Given the description of an element on the screen output the (x, y) to click on. 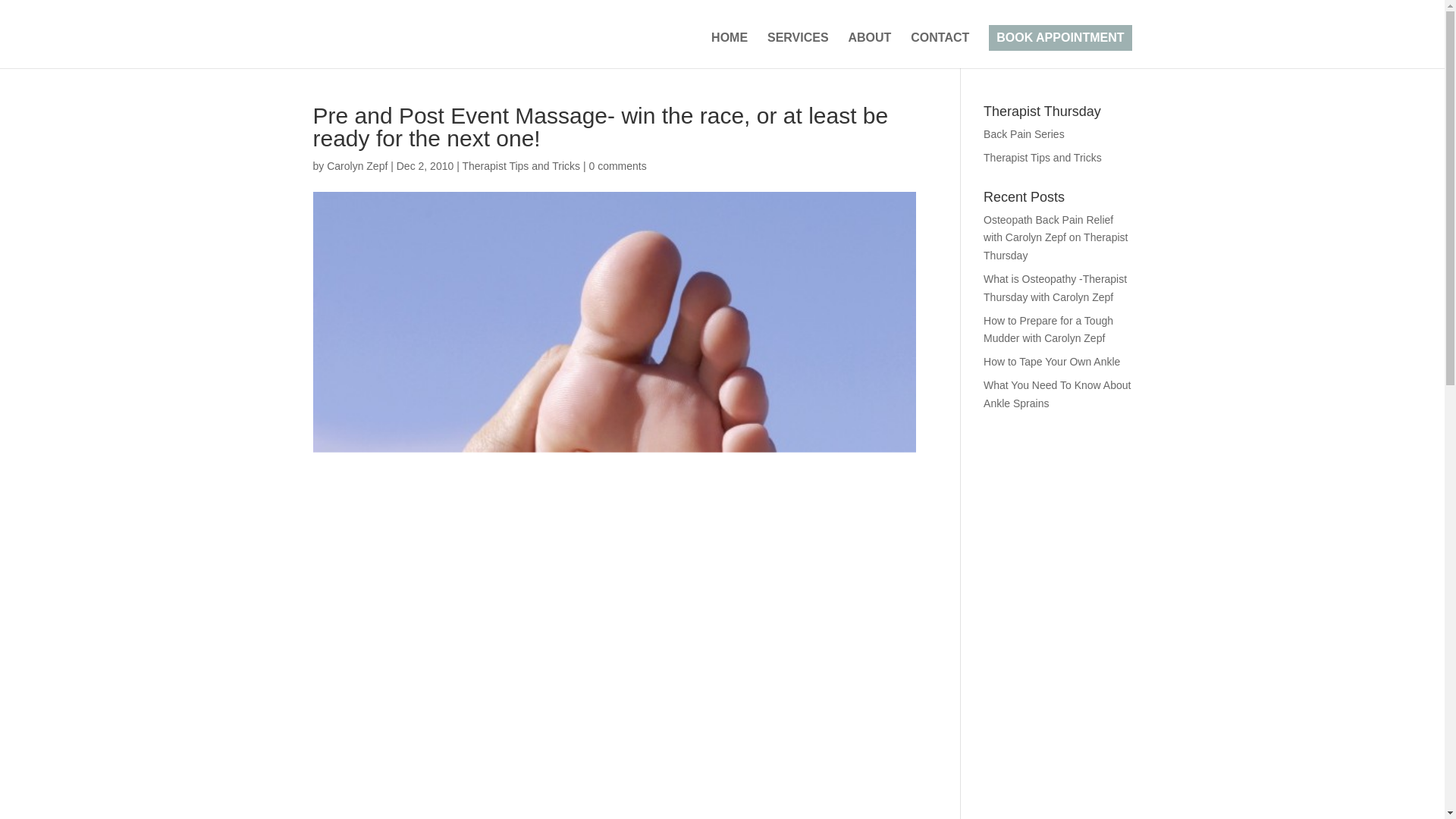
Back Pain Series (1024, 133)
What is Osteopathy -Therapist Thursday with Carolyn Zepf (1055, 287)
Carolyn Zepf (356, 165)
What You Need To Know About Ankle Sprains (1057, 394)
BOOK APPOINTMENT (1059, 37)
CONTACT (940, 49)
SERVICES (797, 49)
Posts by Carolyn Zepf (356, 165)
How to Tape Your Own Ankle (1051, 361)
